Given the description of an element on the screen output the (x, y) to click on. 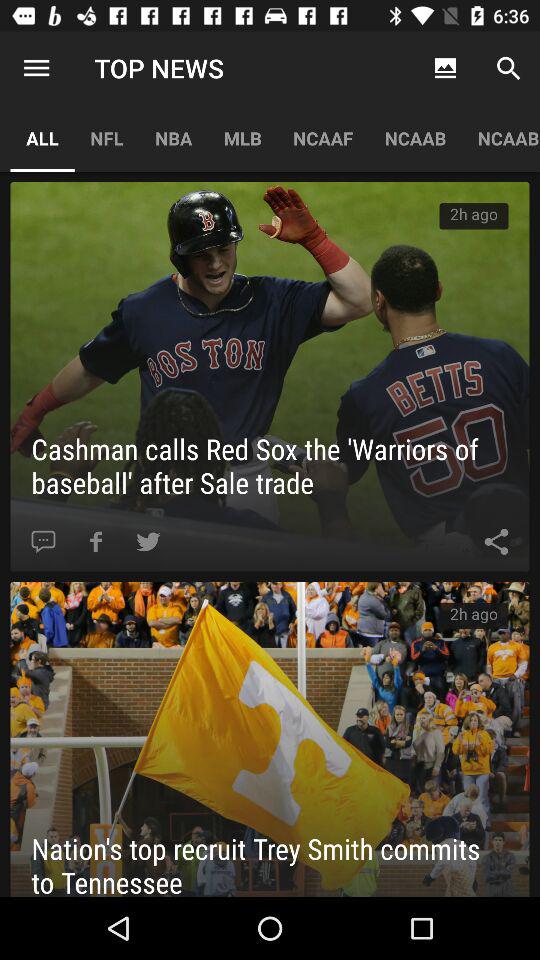
press icon next to nfl item (36, 68)
